Given the description of an element on the screen output the (x, y) to click on. 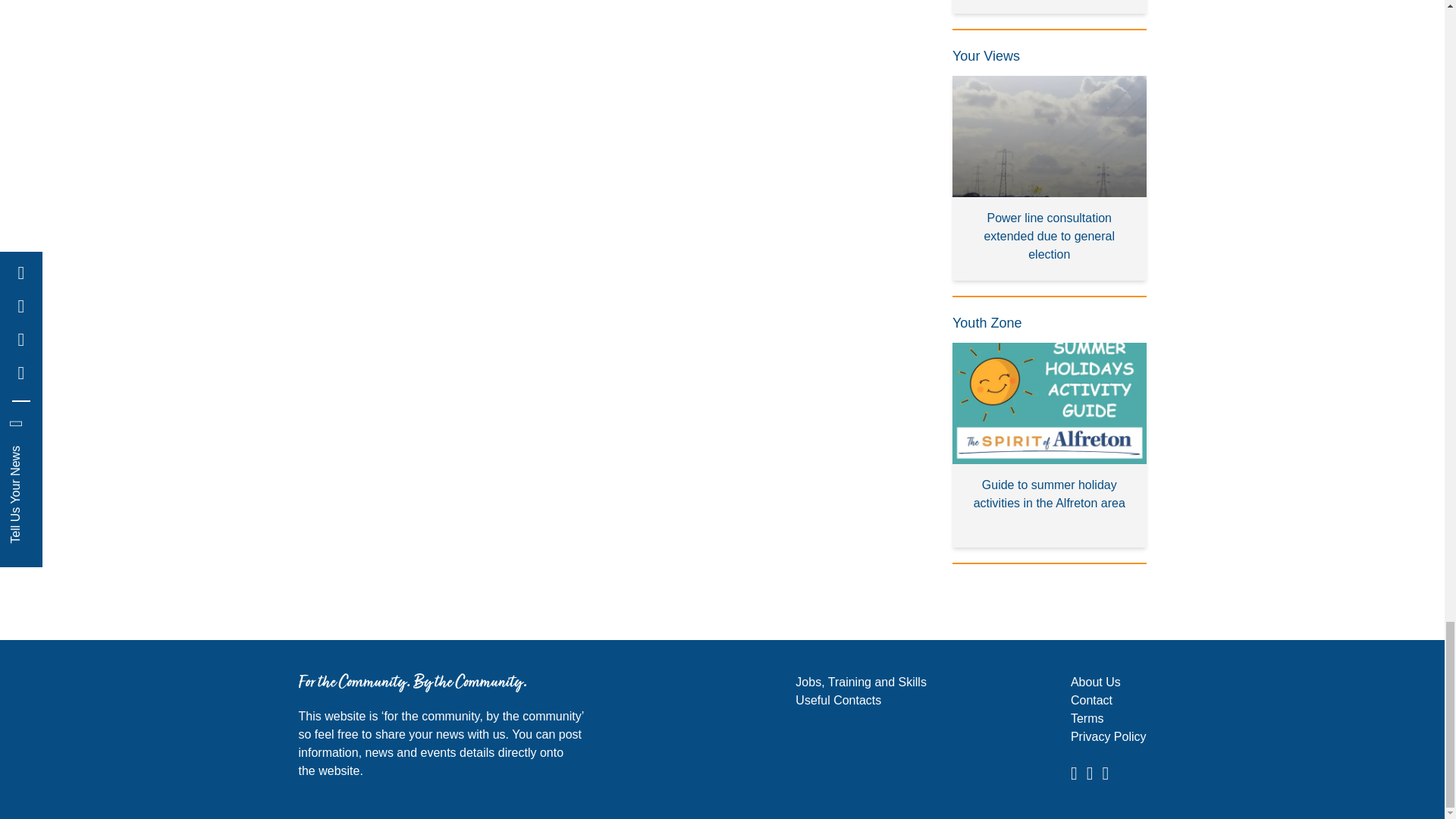
Getting crafty for the Olympics (1049, 6)
Jobs, Training and Skills (860, 681)
Power line consultation extended due to general election (1049, 178)
Useful Contacts (837, 699)
Guide to summer holiday activities in the Alfreton area (1049, 445)
